Given the description of an element on the screen output the (x, y) to click on. 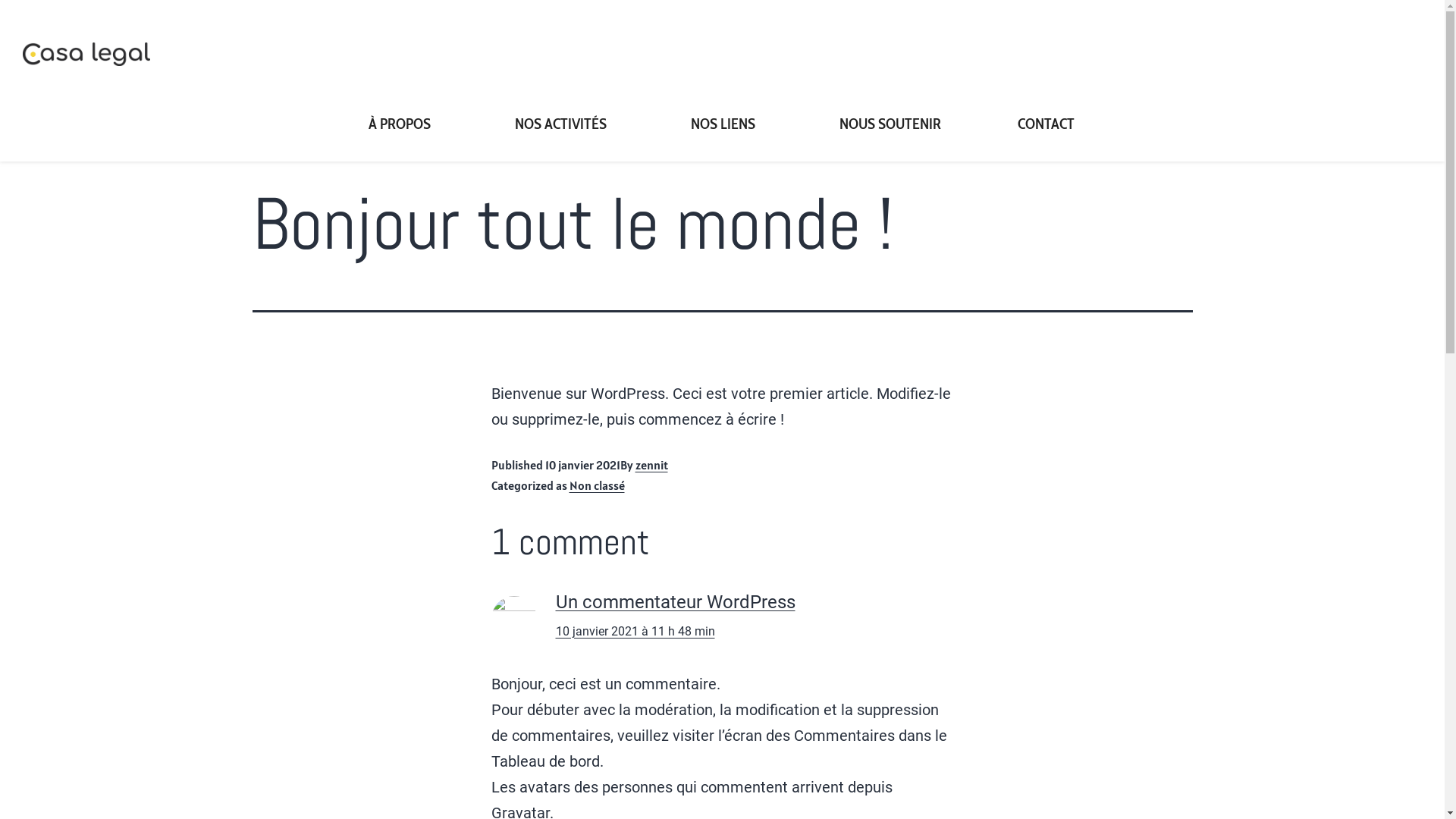
CONTACT Element type: text (1045, 123)
NOS LIENS Element type: text (725, 123)
Un commentateur WordPress Element type: text (674, 601)
NOUS SOUTENIR Element type: text (889, 123)
zennit Element type: text (651, 464)
